Given the description of an element on the screen output the (x, y) to click on. 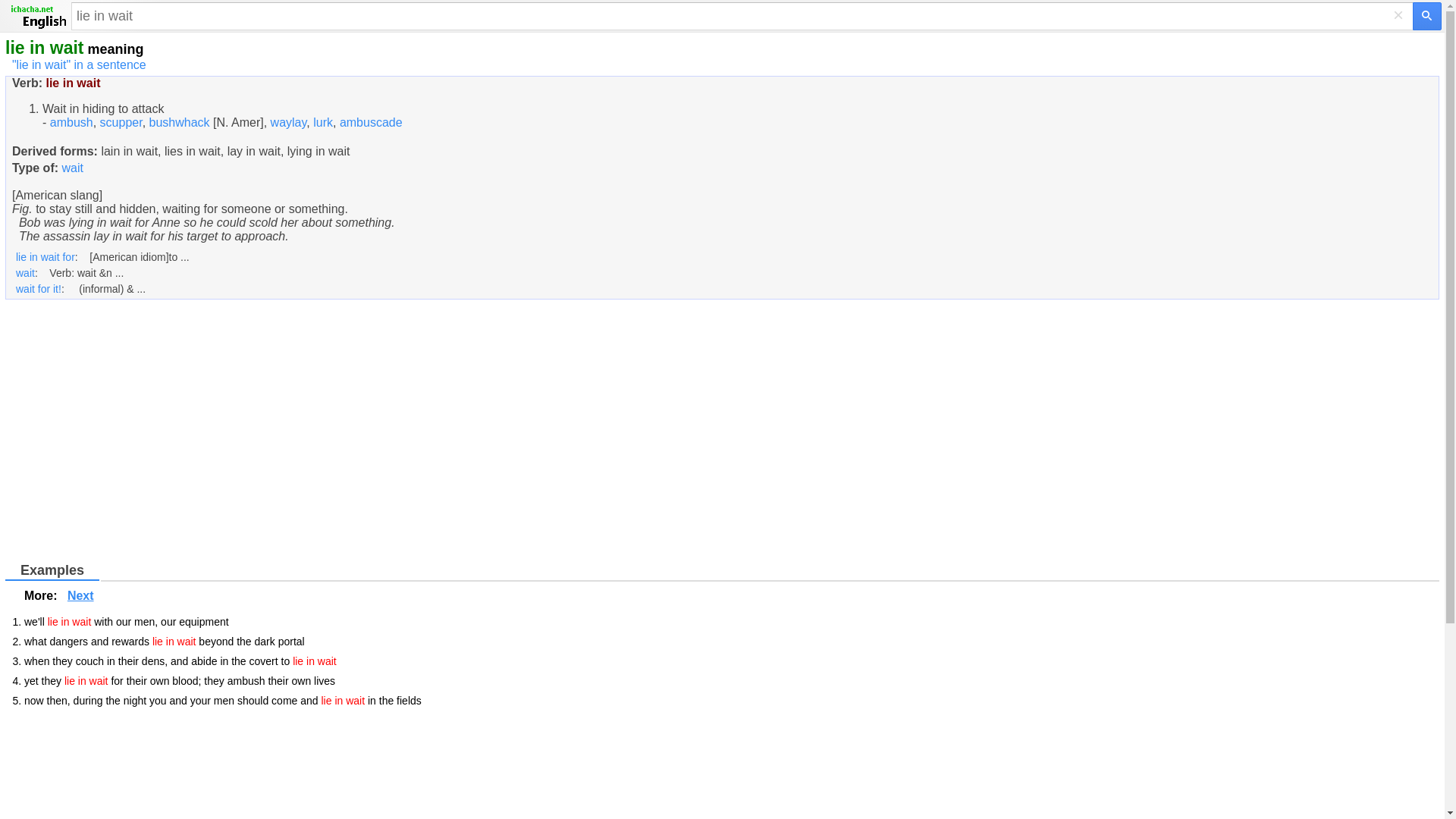
wait (71, 167)
wait (25, 272)
bushwhack meaning (179, 122)
wait meaning (71, 167)
lurk (323, 122)
ambuscade (371, 122)
wait in Chinese (25, 272)
Next (80, 594)
wait for it! in Chinese (38, 288)
English Dictionary (37, 16)
wait for it! (38, 288)
ambush (71, 122)
lie in wait for (45, 256)
lie in wait for in Chinese (45, 256)
